Given the description of an element on the screen output the (x, y) to click on. 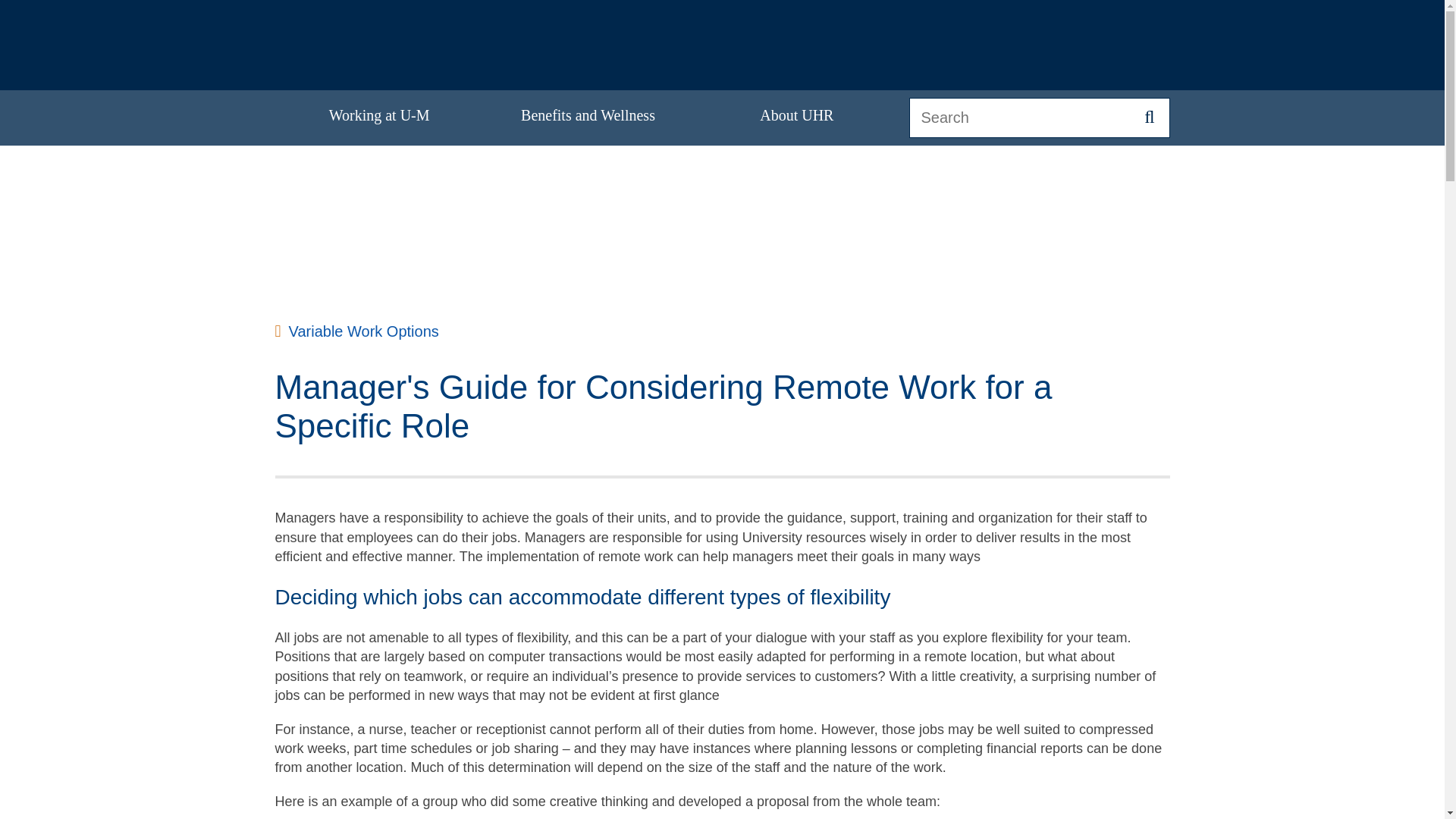
Enter the terms you wish to search for. (1038, 117)
Variable Work Options (356, 330)
About UHR (797, 116)
Benefits and Wellness (588, 116)
Home (426, 41)
Working at U-M (379, 116)
